Given the description of an element on the screen output the (x, y) to click on. 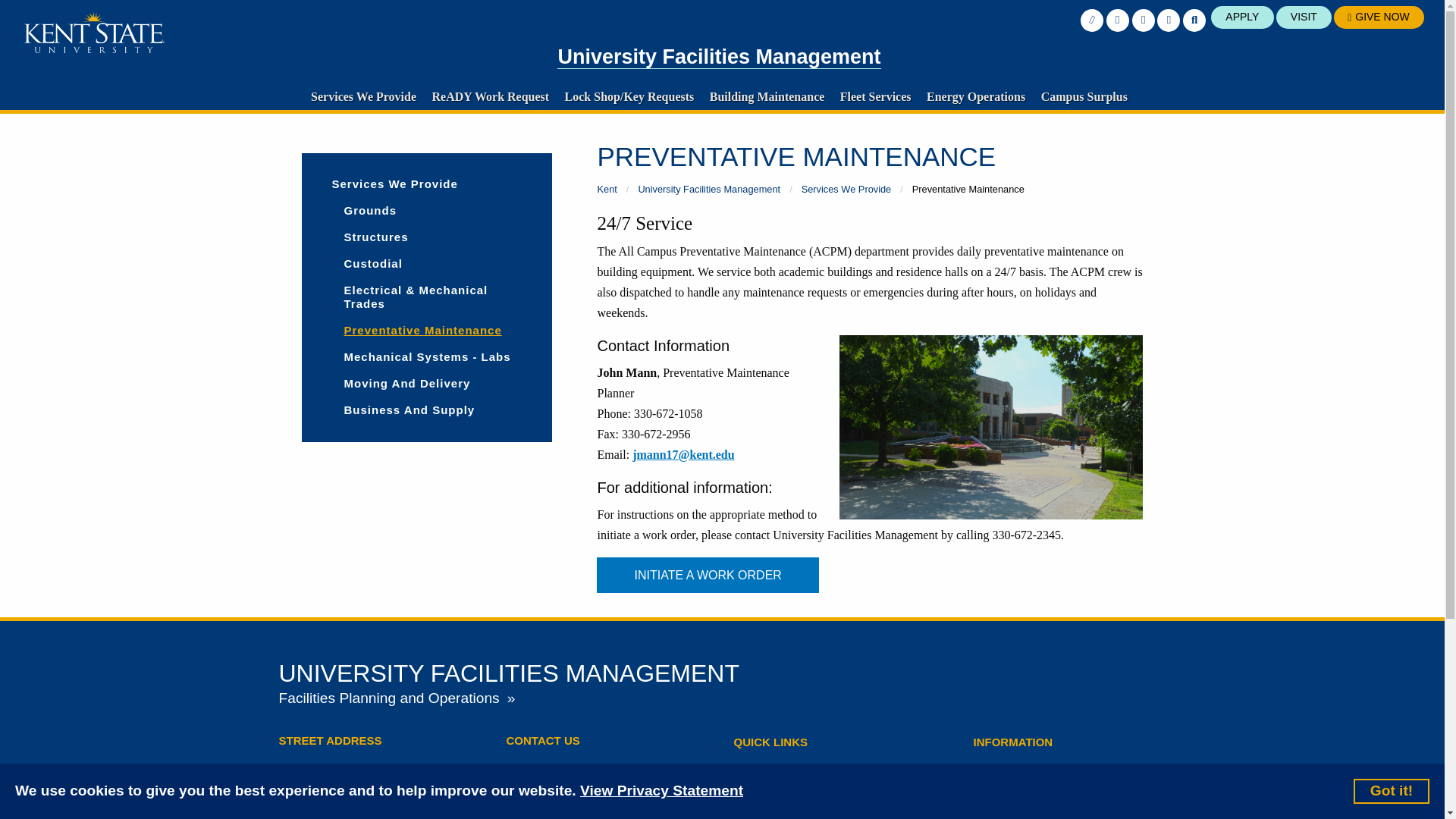
MACC (991, 426)
University Facilities Management (718, 56)
Got it! (1391, 789)
APPLY (1241, 16)
Kent State University logo (94, 32)
Services We Provide (363, 96)
View Privacy Statement (660, 791)
VISIT (1304, 16)
GIVE NOW (1378, 16)
